Given the description of an element on the screen output the (x, y) to click on. 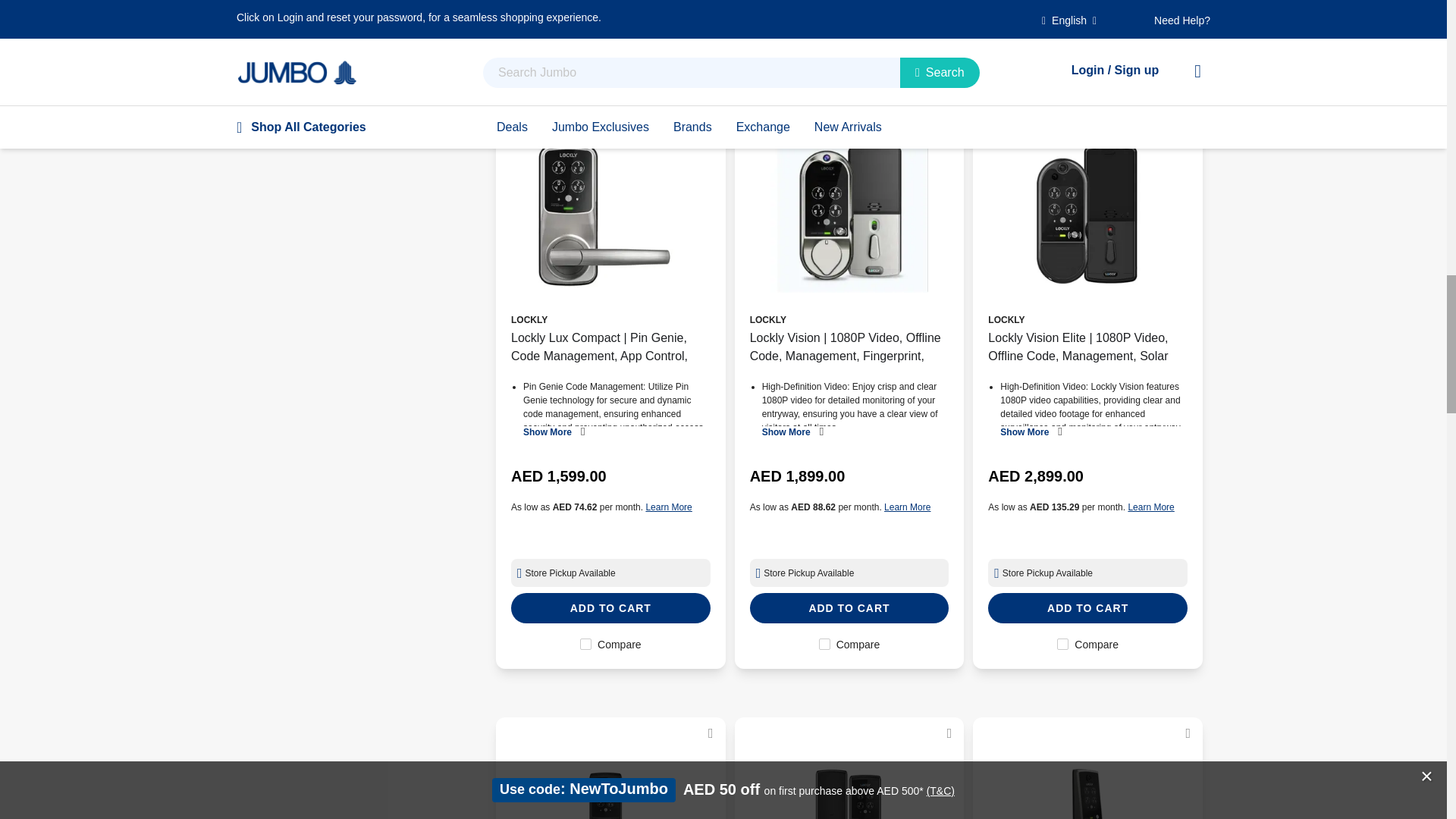
on (823, 16)
on (585, 16)
on (1062, 16)
on (823, 644)
on (585, 644)
on (1062, 644)
